Given the description of an element on the screen output the (x, y) to click on. 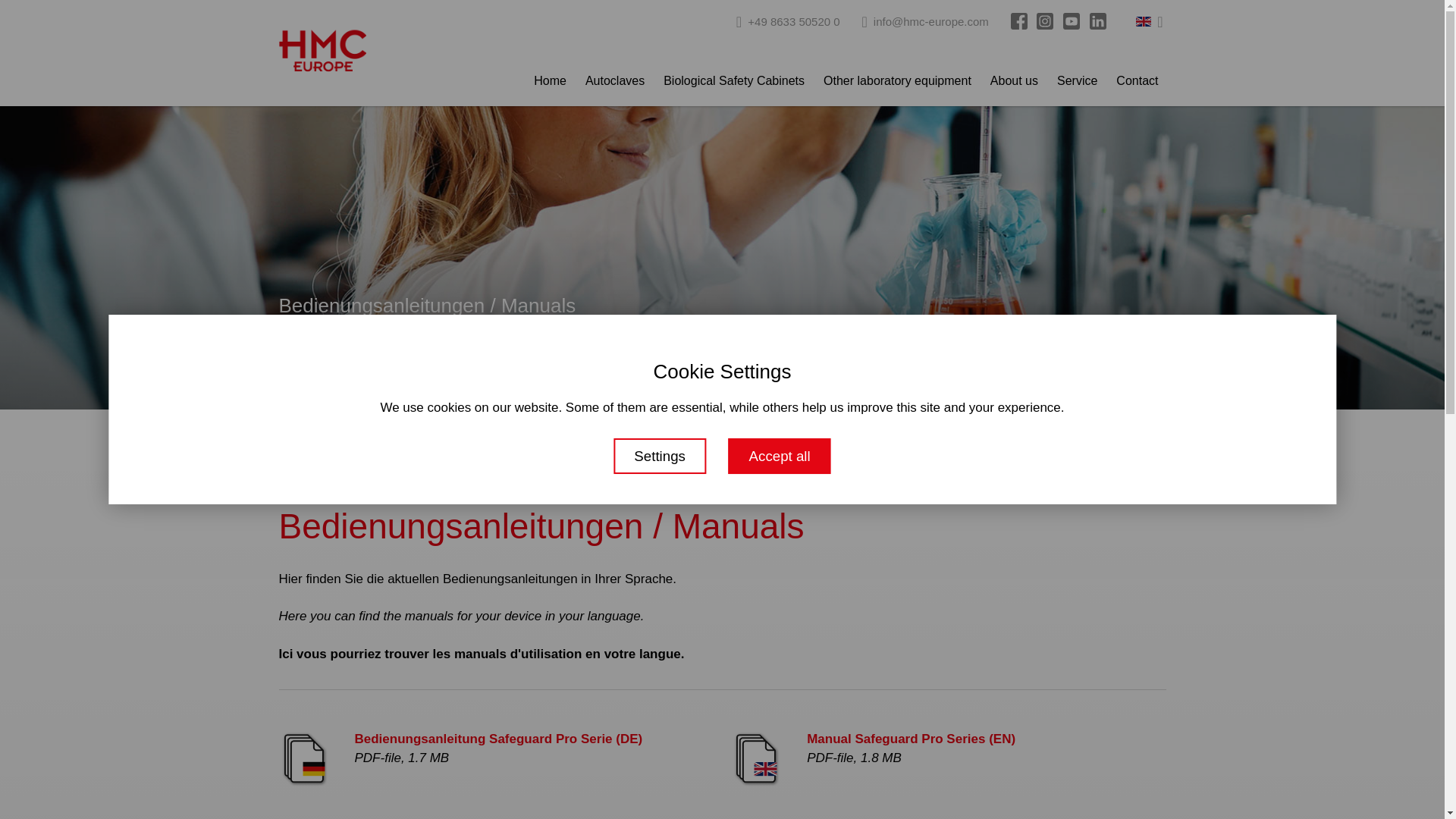
Home (549, 83)
Facebook (1018, 21)
Contact (1137, 83)
Instagram (1045, 19)
YouTube (1071, 19)
Service (1077, 83)
HMC Europe (322, 50)
Instagram (1044, 21)
LinkedIn (1097, 21)
Other laboratory equipment (896, 83)
Biological Safety Cabinets (734, 83)
Facebook (1018, 19)
YouTube (1071, 21)
HMC Europe (322, 51)
